Given the description of an element on the screen output the (x, y) to click on. 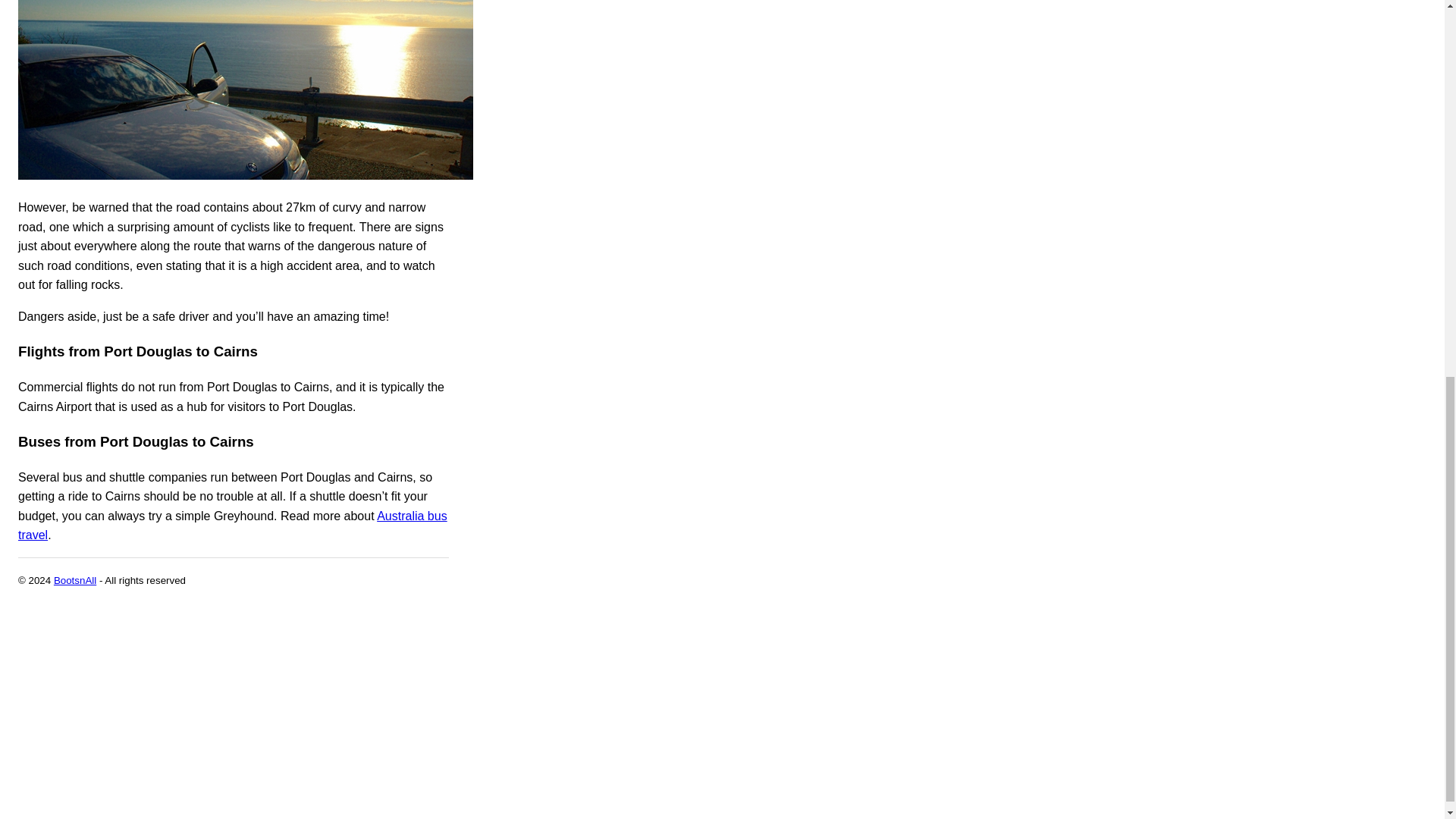
BootsnAll (74, 580)
Australia bus travel (231, 525)
